Given the description of an element on the screen output the (x, y) to click on. 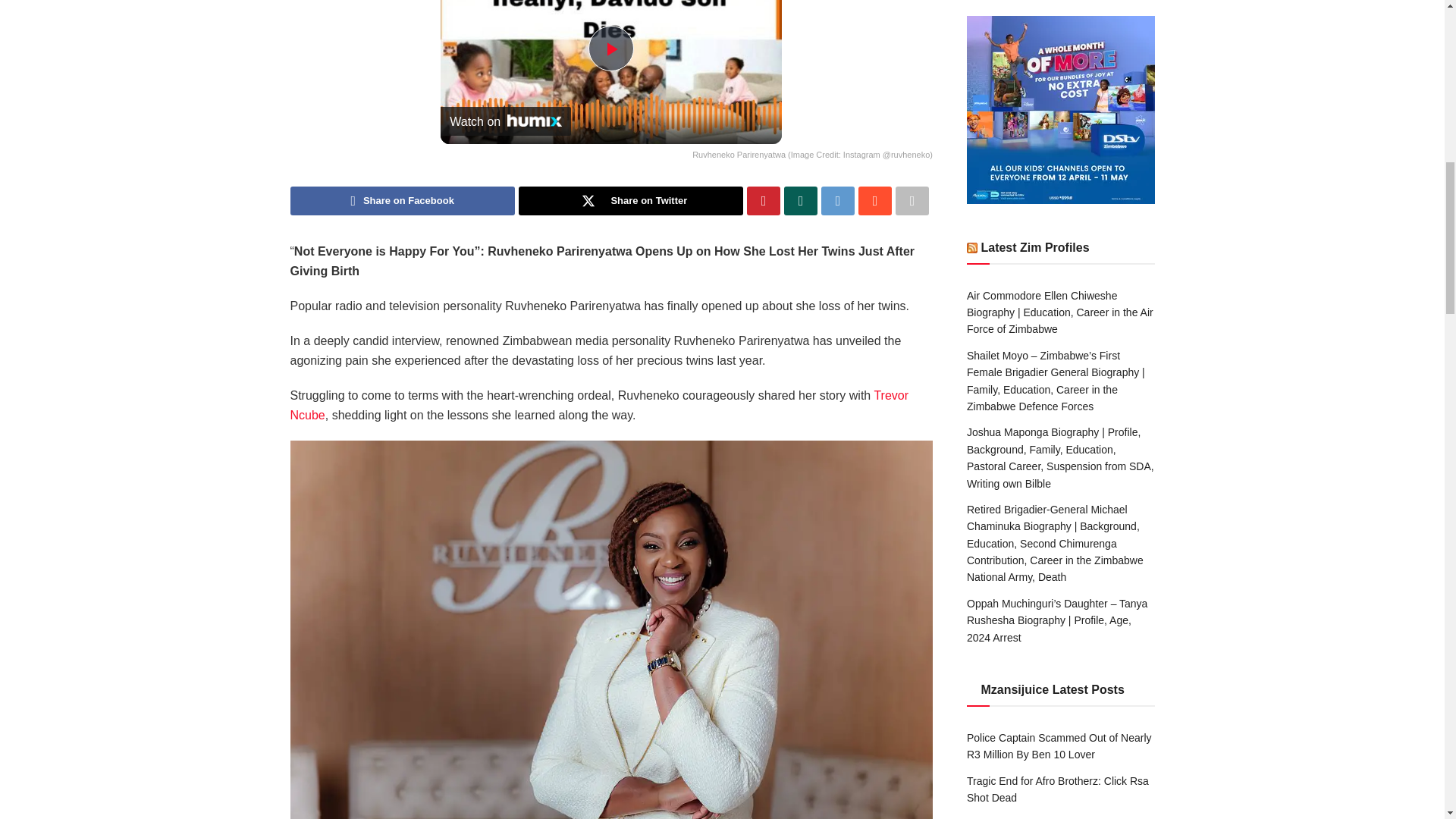
Play Video (610, 48)
